Given the description of an element on the screen output the (x, y) to click on. 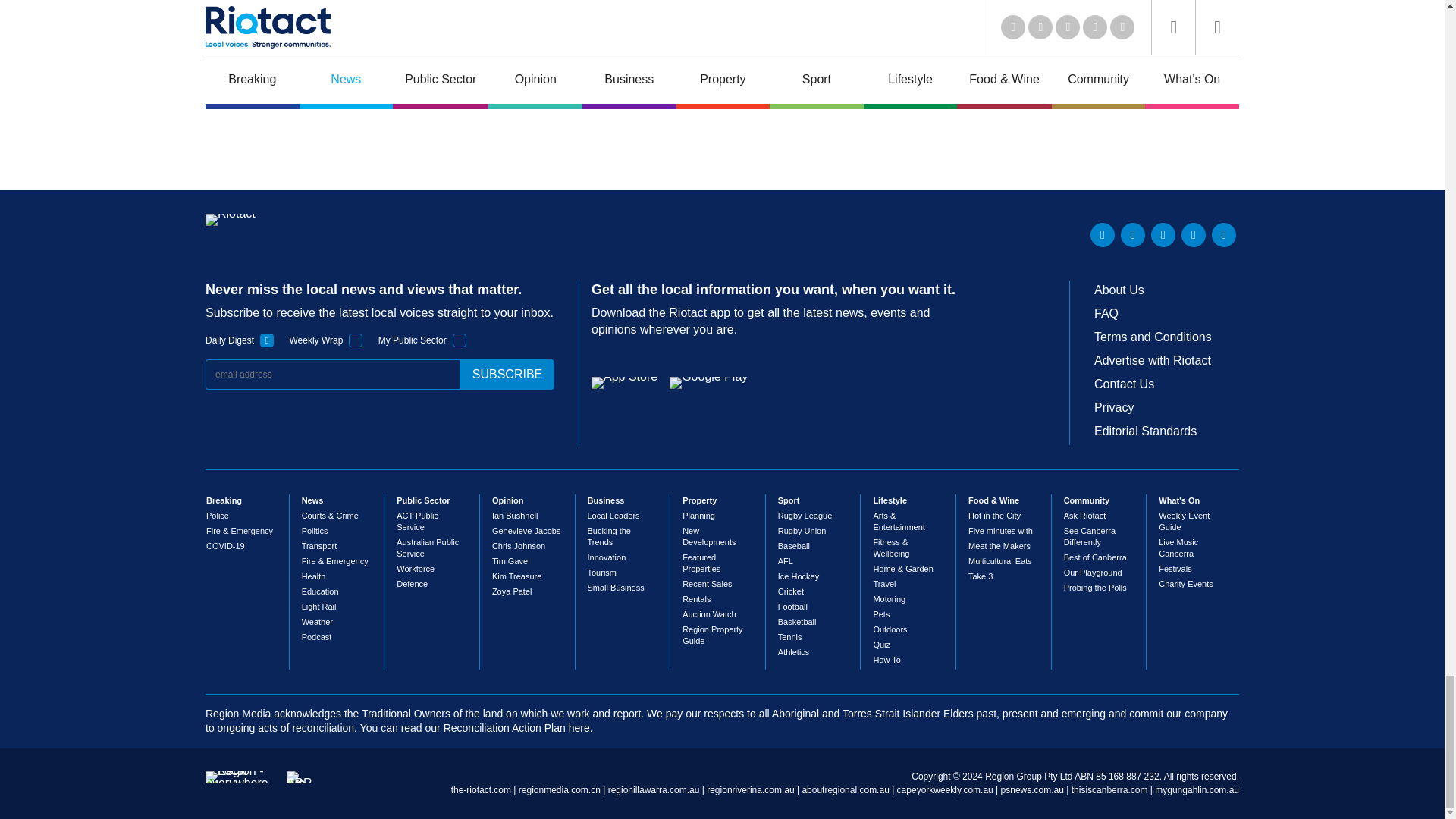
LinkedIn (1102, 234)
subscribe (507, 374)
1 (458, 340)
Twitter (1132, 234)
1 (266, 340)
1 (355, 340)
